Given the description of an element on the screen output the (x, y) to click on. 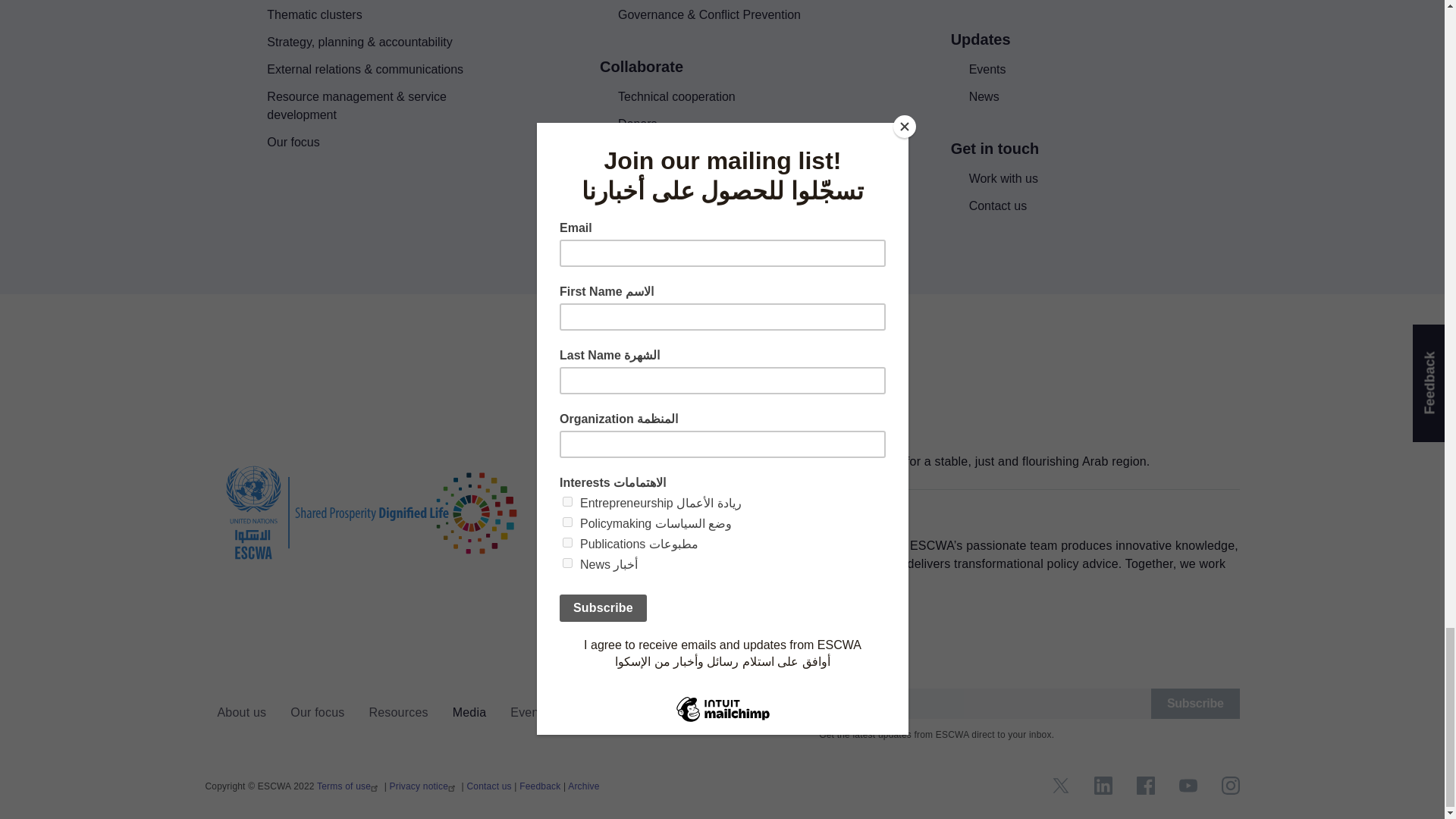
Facebook icon (1144, 785)
YouTube icon (1186, 785)
LinkedIn icon (1102, 785)
